Given the description of an element on the screen output the (x, y) to click on. 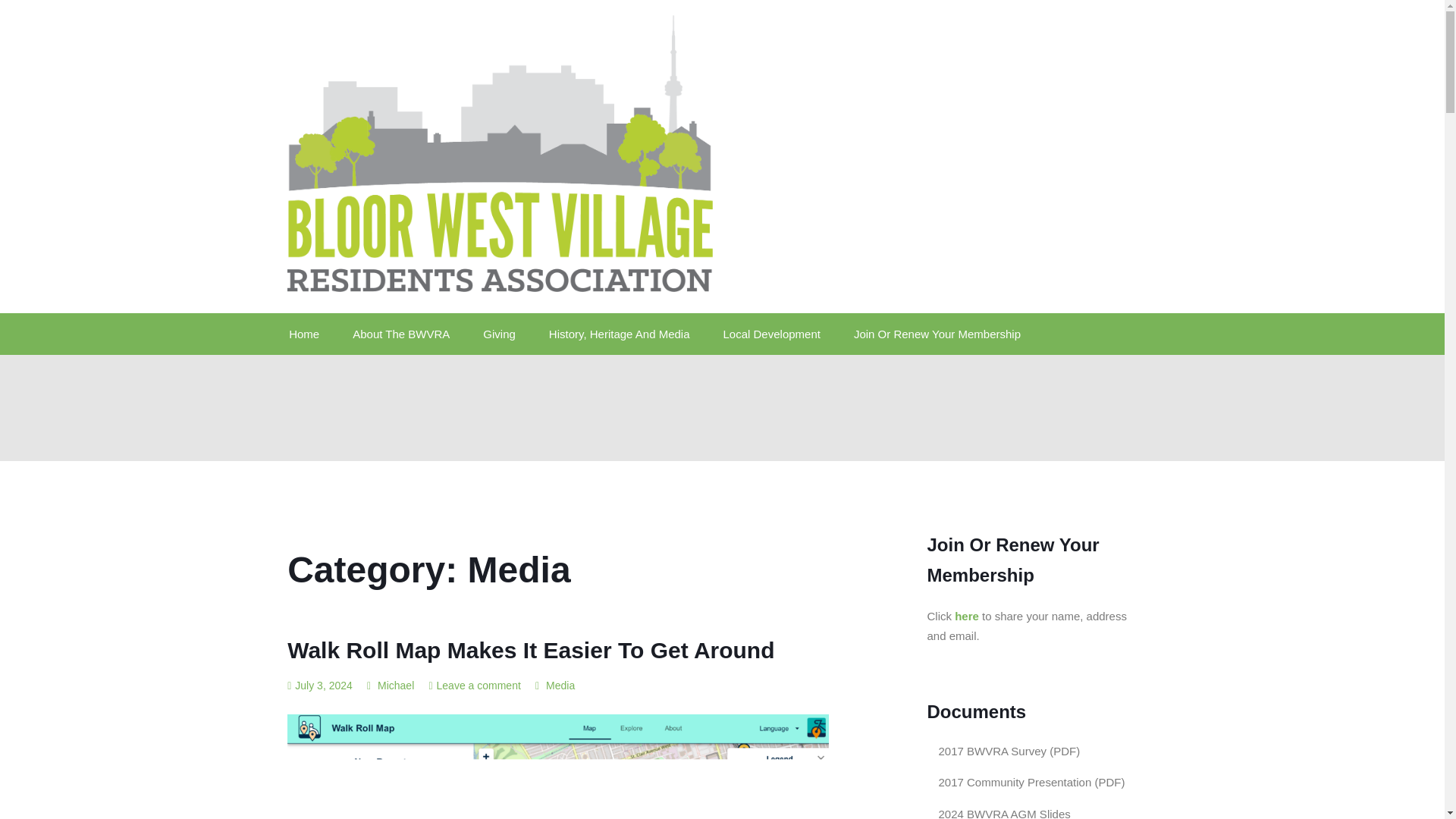
Join Or Renew Your Membership (936, 333)
Leave a comment (478, 685)
Media (560, 685)
July 3, 2024 (319, 685)
Humber Theatre Update and Ryerson Neighbourhood Presentation (1030, 781)
History, Heritage And Media (619, 333)
Walk Roll Map Makes It Easier To Get Around (530, 650)
Completed survey. (1008, 750)
Home (311, 333)
Michael (389, 685)
Local Development (771, 333)
Slides from our recent AGM held in July 2024 (1003, 813)
About The BWVRA (400, 333)
Giving (499, 333)
